Given the description of an element on the screen output the (x, y) to click on. 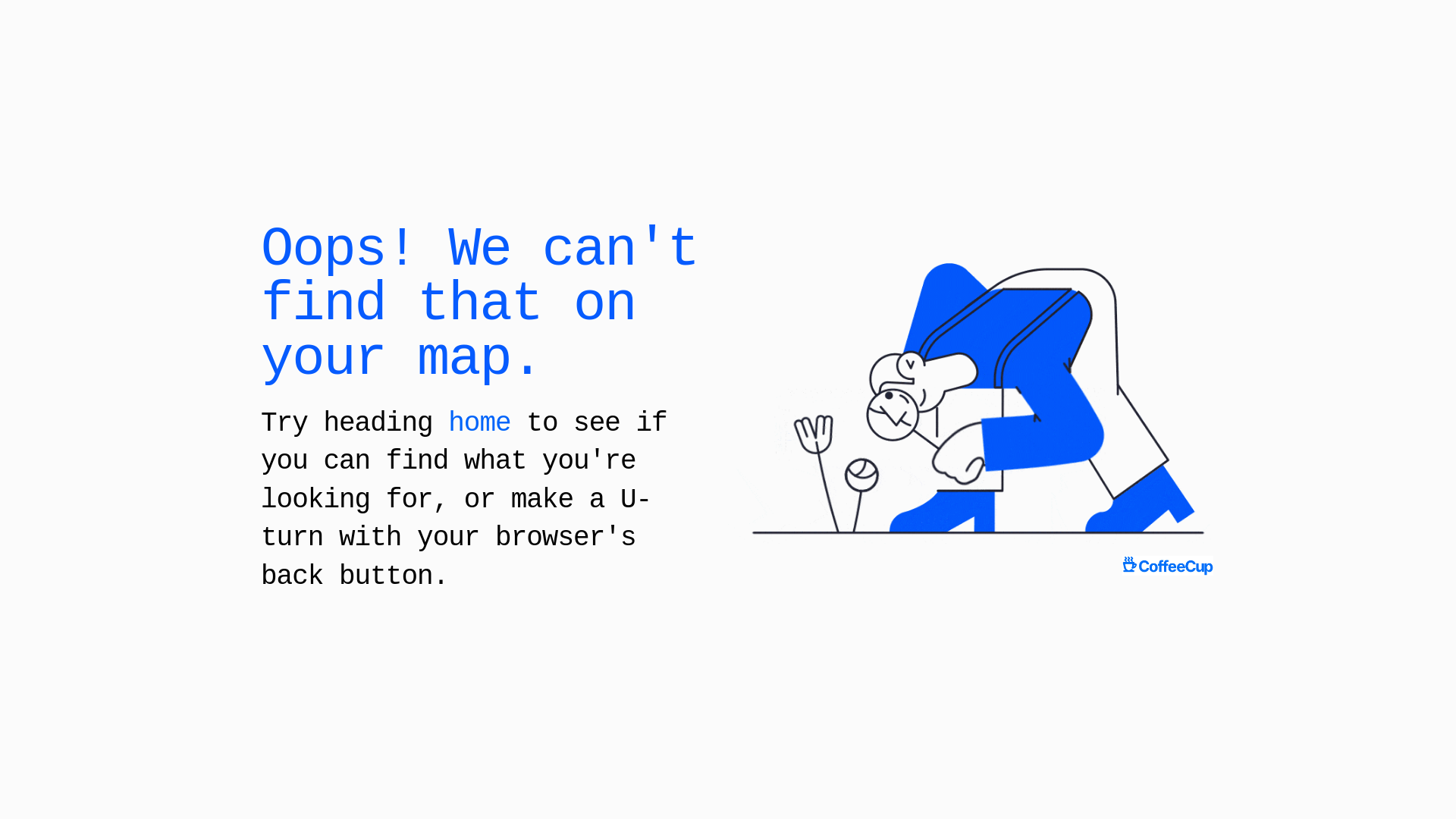
home Element type: text (479, 423)
CoffeeCup Software Element type: hover (1167, 565)
